Given the description of an element on the screen output the (x, y) to click on. 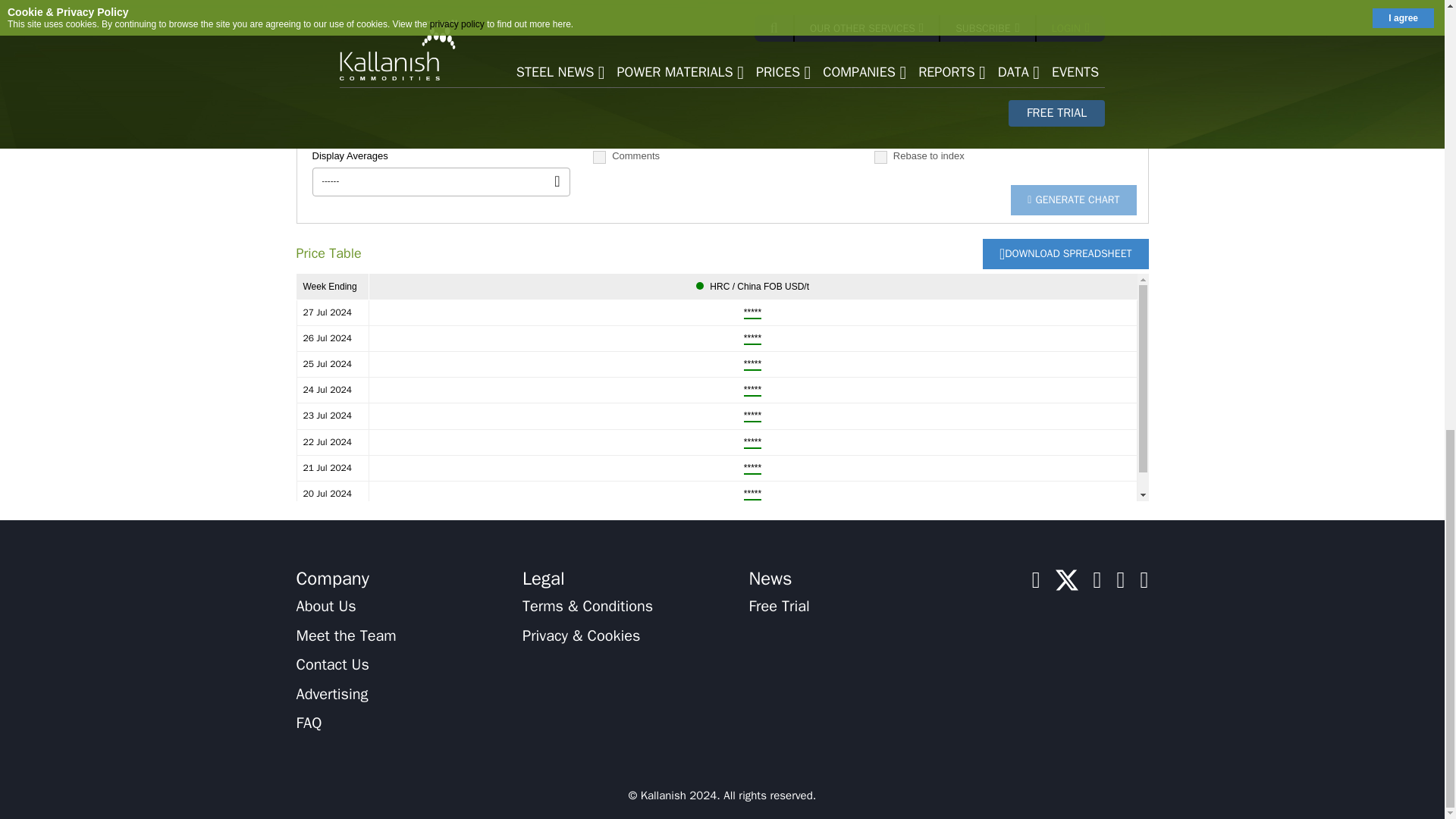
Select Price Series (1003, 9)
Nothing selected (721, 9)
Subscribe to be able to download prices (1065, 254)
None (511, 9)
None (371, 9)
Metric Tonne t (511, 63)
Select Price Series (721, 63)
------ (441, 181)
Select Price Series (721, 122)
Select Price Series (1003, 63)
USD (371, 63)
Select Price Series (1003, 122)
